Given the description of an element on the screen output the (x, y) to click on. 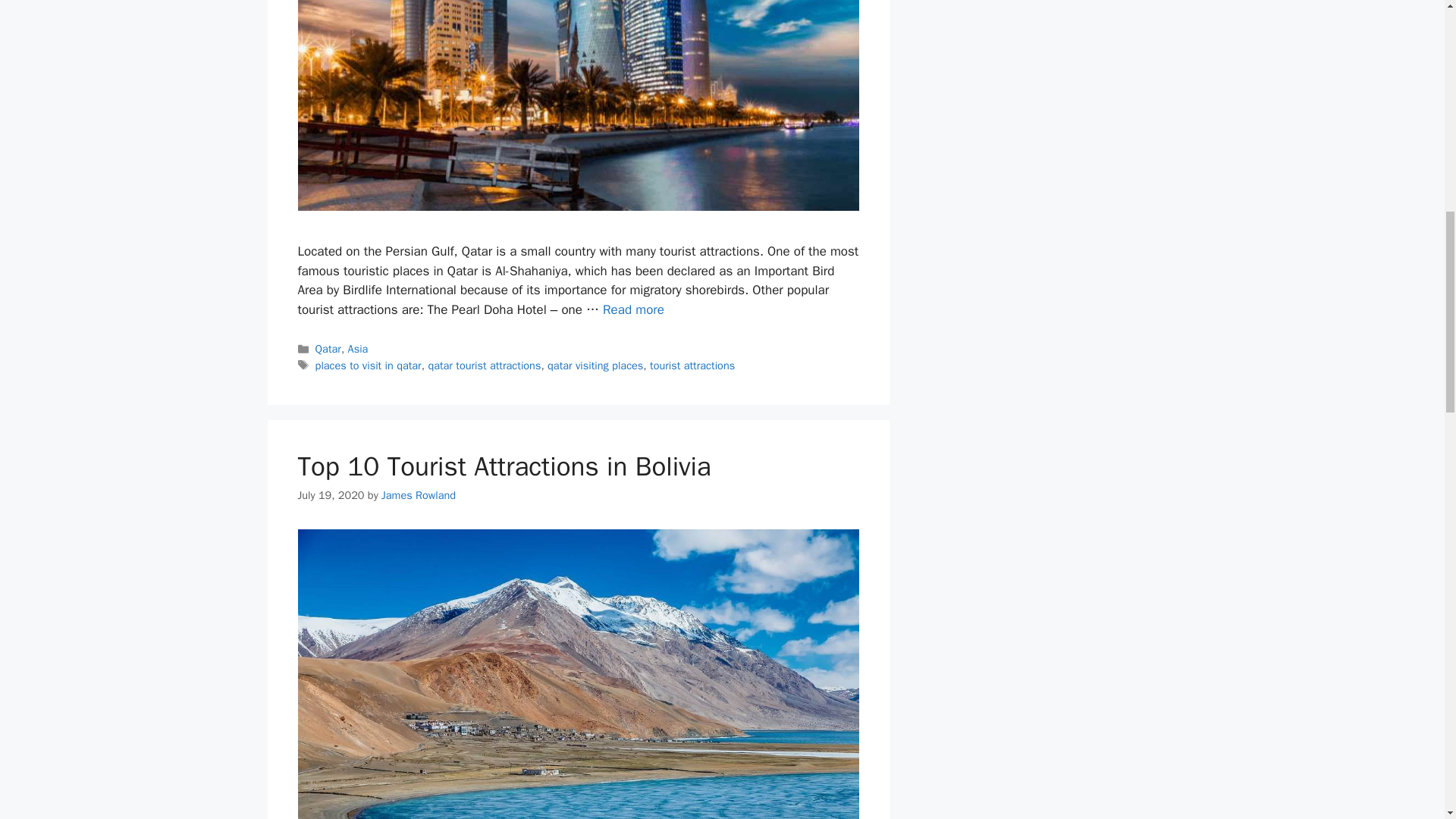
Top 16 Best Qatar Tourist Attractions You Should Visit (632, 309)
places to visit in qatar (368, 365)
Read more (632, 309)
Qatar (327, 348)
View all posts by James Rowland (418, 495)
Asia (357, 348)
qatar tourist attractions (484, 365)
